Given the description of an element on the screen output the (x, y) to click on. 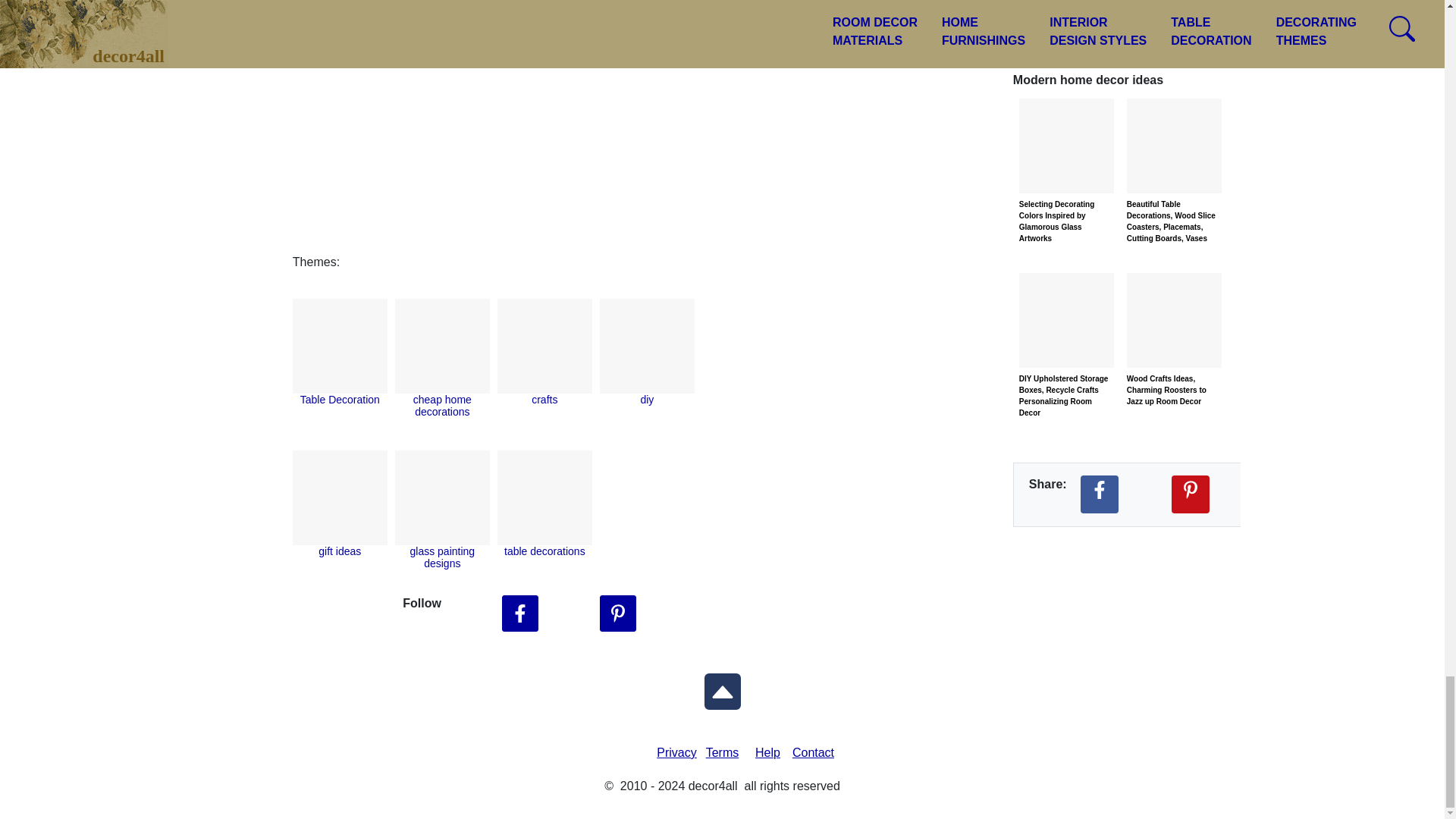
cheap home decorations (442, 405)
gift ideas (339, 551)
glass painting designs (443, 557)
crafts (544, 399)
diy (646, 399)
Table Decoration (339, 399)
table decorations (544, 551)
